Given the description of an element on the screen output the (x, y) to click on. 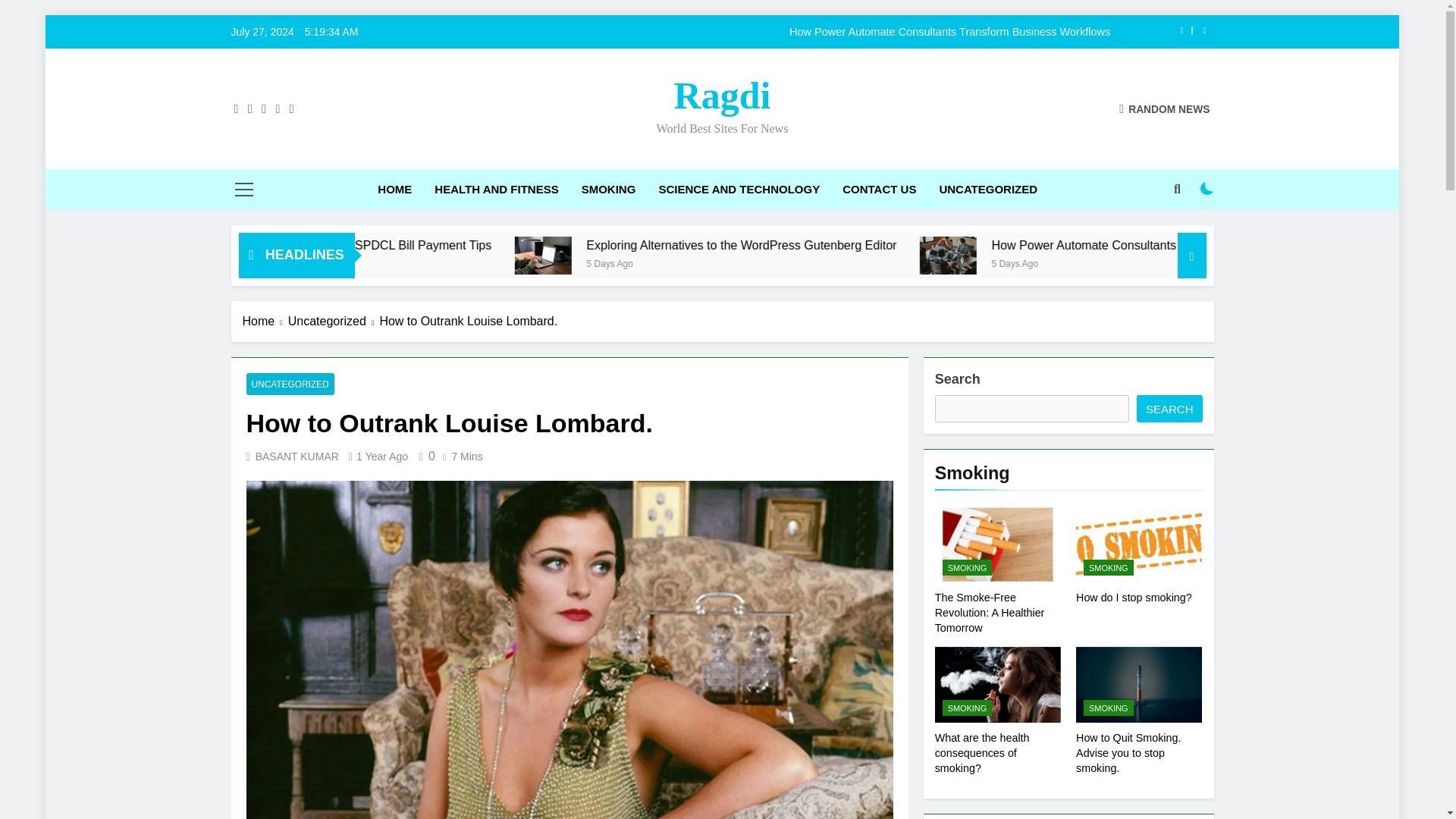
5 Days Ago (800, 262)
SMOKING (608, 188)
Exploring Alternatives to the WordPress Gutenberg Editor (703, 255)
HEALTH AND FITNESS (496, 188)
HOME (394, 188)
CONTACT US (879, 188)
Ragdi (722, 95)
UNCATEGORIZED (987, 188)
How Power Automate Consultants Transform Business Workflows (817, 31)
How to Avoid Late Fees: Timely CSPDCL Bill Payment Tips (534, 245)
SCIENCE AND TECHNOLOGY (738, 188)
Exploring Alternatives to the WordPress Gutenberg Editor (935, 245)
How to Avoid Late Fees: Timely CSPDCL Bill Payment Tips (493, 245)
on (1206, 188)
